Given the description of an element on the screen output the (x, y) to click on. 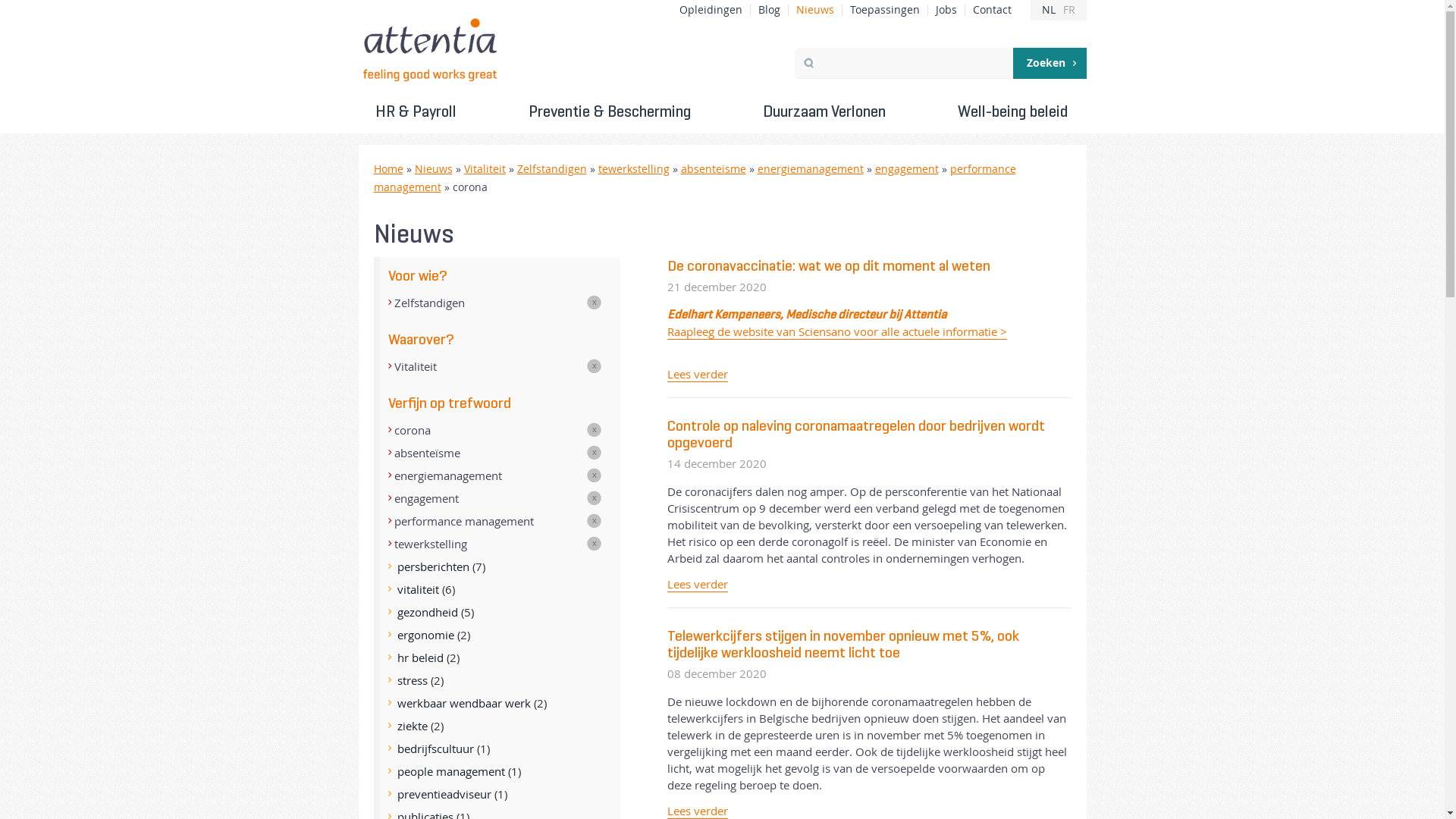
engagement Element type: text (906, 168)
Well-being beleid Element type: text (1012, 111)
Toepassingen Element type: text (883, 9)
performance management Element type: text (694, 178)
Remove Vitaliteit filter Element type: text (506, 365)
Overslaan en naar de inhoud gaan Element type: text (89, 0)
Nieuws Element type: text (814, 9)
Remove tewerkstelling filter Element type: text (506, 543)
Preventie & Bescherming Element type: text (609, 111)
preventieadviseur (1)
Apply preventieadviseur filter Element type: text (496, 793)
ziekte (2)
Apply ziekte filter Element type: text (496, 725)
Nieuws Element type: text (432, 168)
Blog Element type: text (768, 9)
vitaliteit (6)
Apply vitaliteit filter Element type: text (496, 588)
stress (2)
Apply stress filter Element type: text (496, 679)
Lees verder Element type: text (697, 584)
FR Element type: text (1069, 9)
Remove engagement filter Element type: text (506, 497)
bedrijfscultuur (1)
Apply bedrijfscultuur filter Element type: text (496, 748)
Zoeken Element type: text (1049, 62)
Duurzaam Verlonen Element type: text (823, 111)
Zelfstandigen Element type: text (551, 168)
people management (1)
Apply people management filter Element type: text (496, 770)
gezondheid (5)
Apply gezondheid filter Element type: text (496, 611)
Remove corona filter Element type: text (506, 429)
Opleidingen Element type: text (710, 9)
NL Element type: text (1048, 9)
persberichten (7)
Apply persberichten filter Element type: text (496, 566)
Lees verder Element type: text (697, 374)
Home Element type: text (387, 168)
Remove performance management filter Element type: text (506, 520)
energiemanagement Element type: text (809, 168)
Jobs Element type: text (946, 9)
Vitaliteit Element type: text (484, 168)
Contact Element type: text (991, 9)
De coronavaccinatie: wat we op dit moment al weten Element type: text (828, 265)
HR & Payroll Element type: text (415, 111)
Home Element type: hover (430, 49)
ergonomie (2)
Apply ergonomie filter Element type: text (496, 634)
Remove energiemanagement filter Element type: text (506, 475)
tewerkstelling Element type: text (632, 168)
hr beleid (2)
Apply hr beleid filter Element type: text (496, 657)
Remove Zelfstandigen filter Element type: text (506, 302)
